Given the description of an element on the screen output the (x, y) to click on. 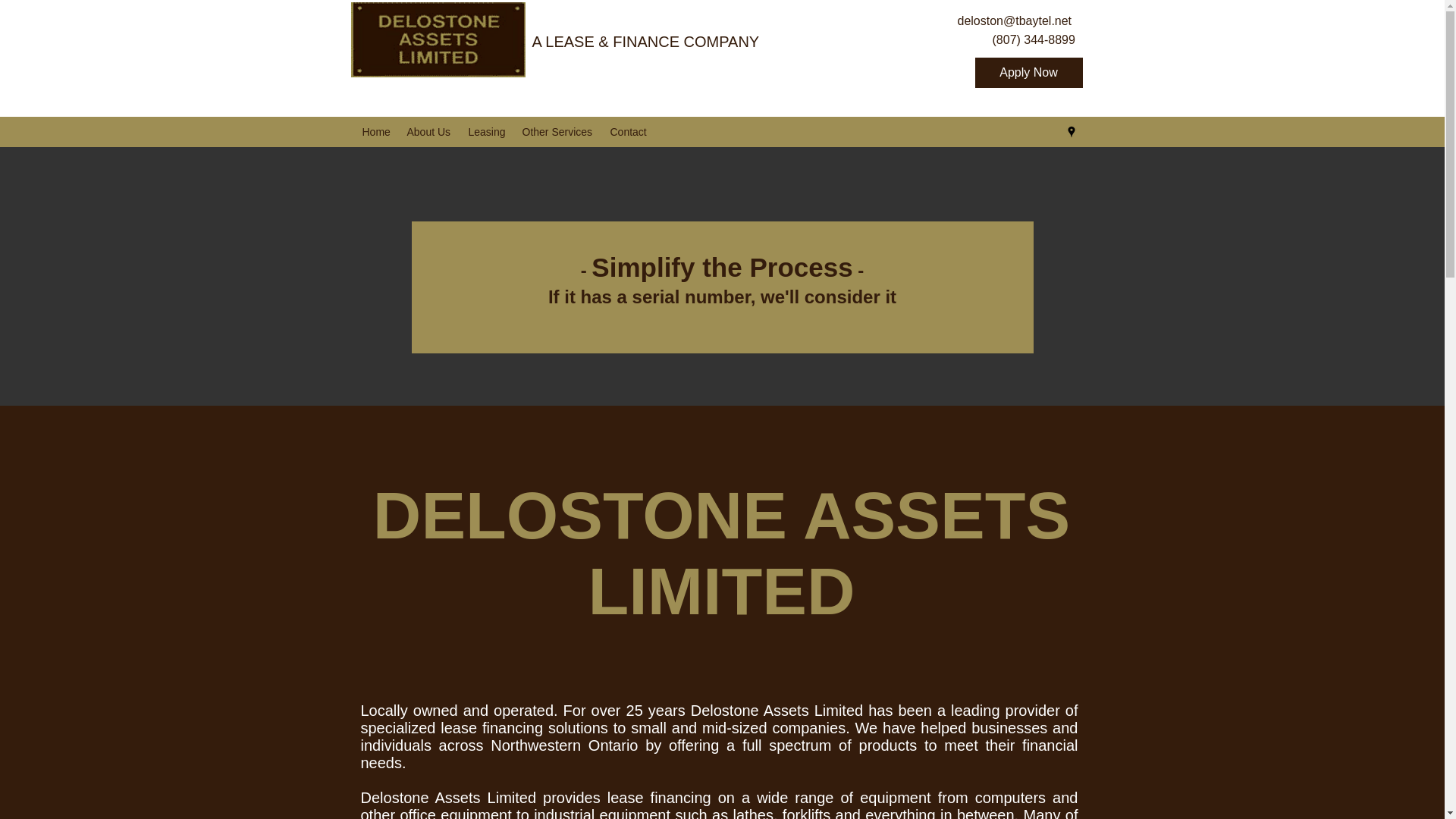
Home (376, 131)
About Us (429, 131)
Apply Now (1029, 72)
Other Services (557, 131)
Contact (629, 131)
Leasing (488, 131)
